Given the description of an element on the screen output the (x, y) to click on. 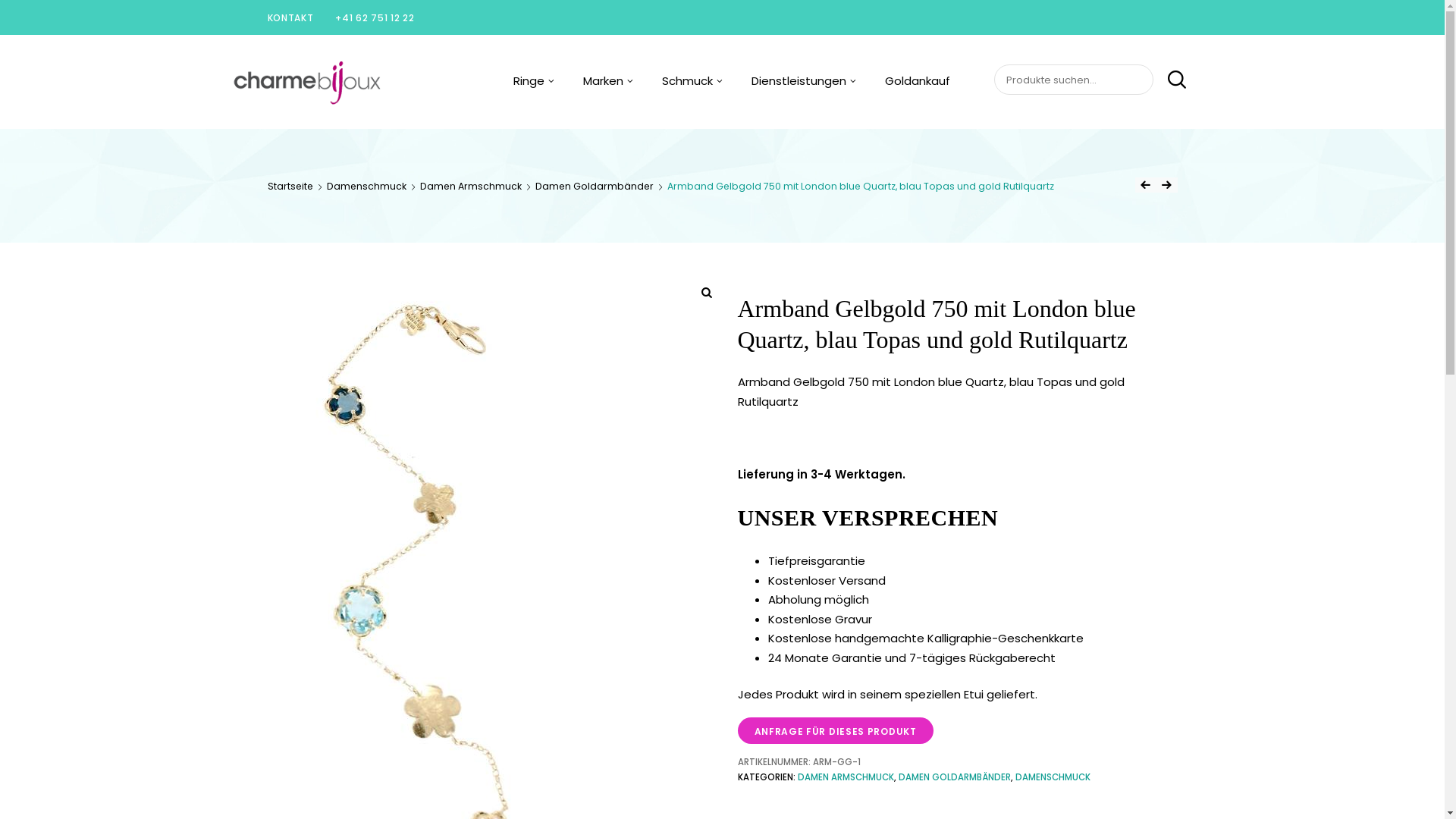
DAMENSCHMUCK Element type: text (1051, 777)
+41 62 751 12 22 Element type: text (374, 17)
Damenschmuck Element type: text (366, 185)
Goldankauf Element type: text (917, 81)
Startseite Element type: text (289, 185)
KONTAKT Element type: text (289, 17)
Ringe Element type: text (533, 81)
DAMEN ARMSCHMUCK Element type: text (845, 777)
SUCHE Element type: text (1171, 80)
Schmuck Element type: text (692, 81)
Dienstleistungen Element type: text (803, 81)
Damen Armschmuck Element type: text (470, 185)
Marken Element type: text (608, 81)
